Given the description of an element on the screen output the (x, y) to click on. 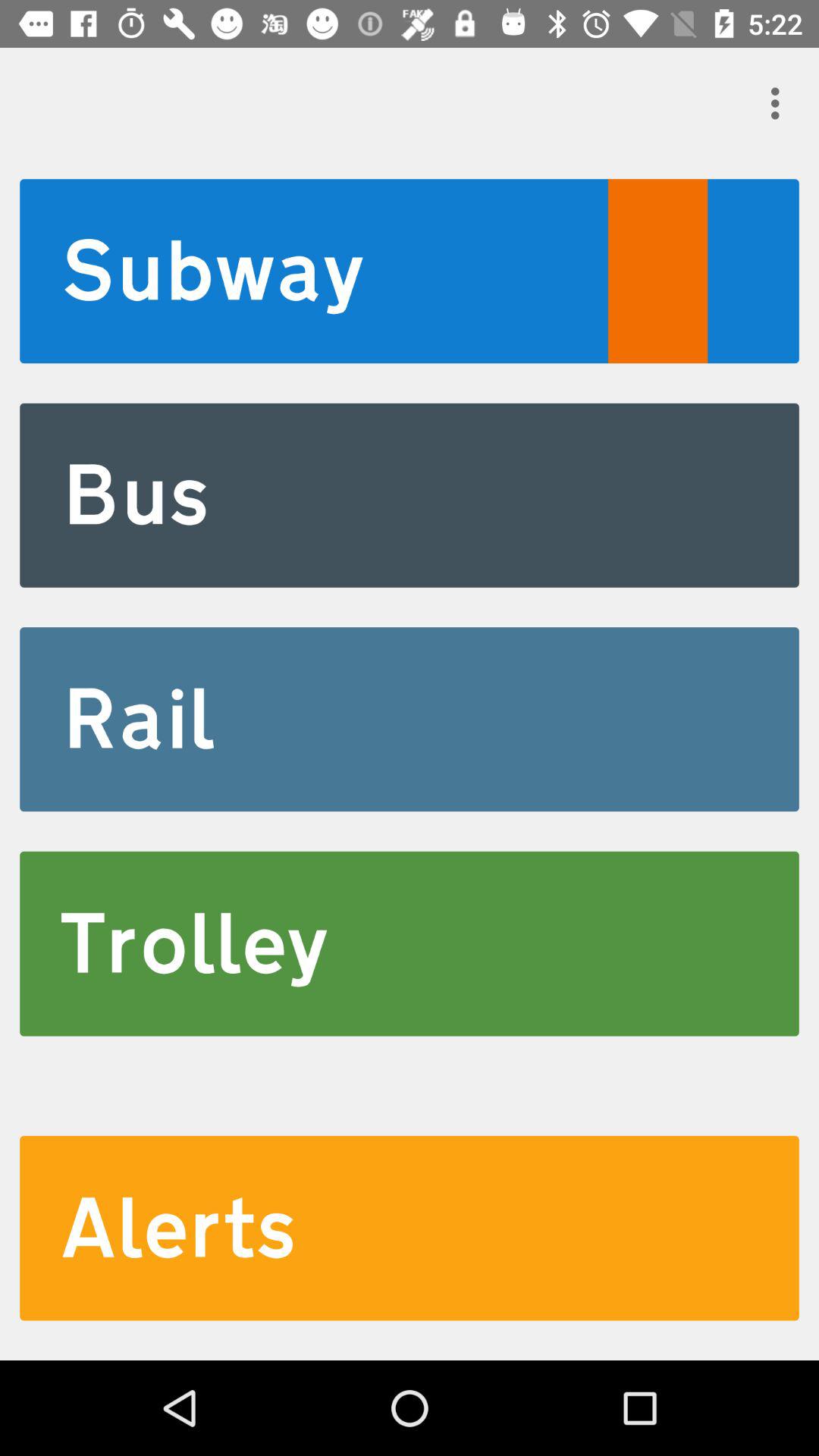
tap rail (409, 719)
